Given the description of an element on the screen output the (x, y) to click on. 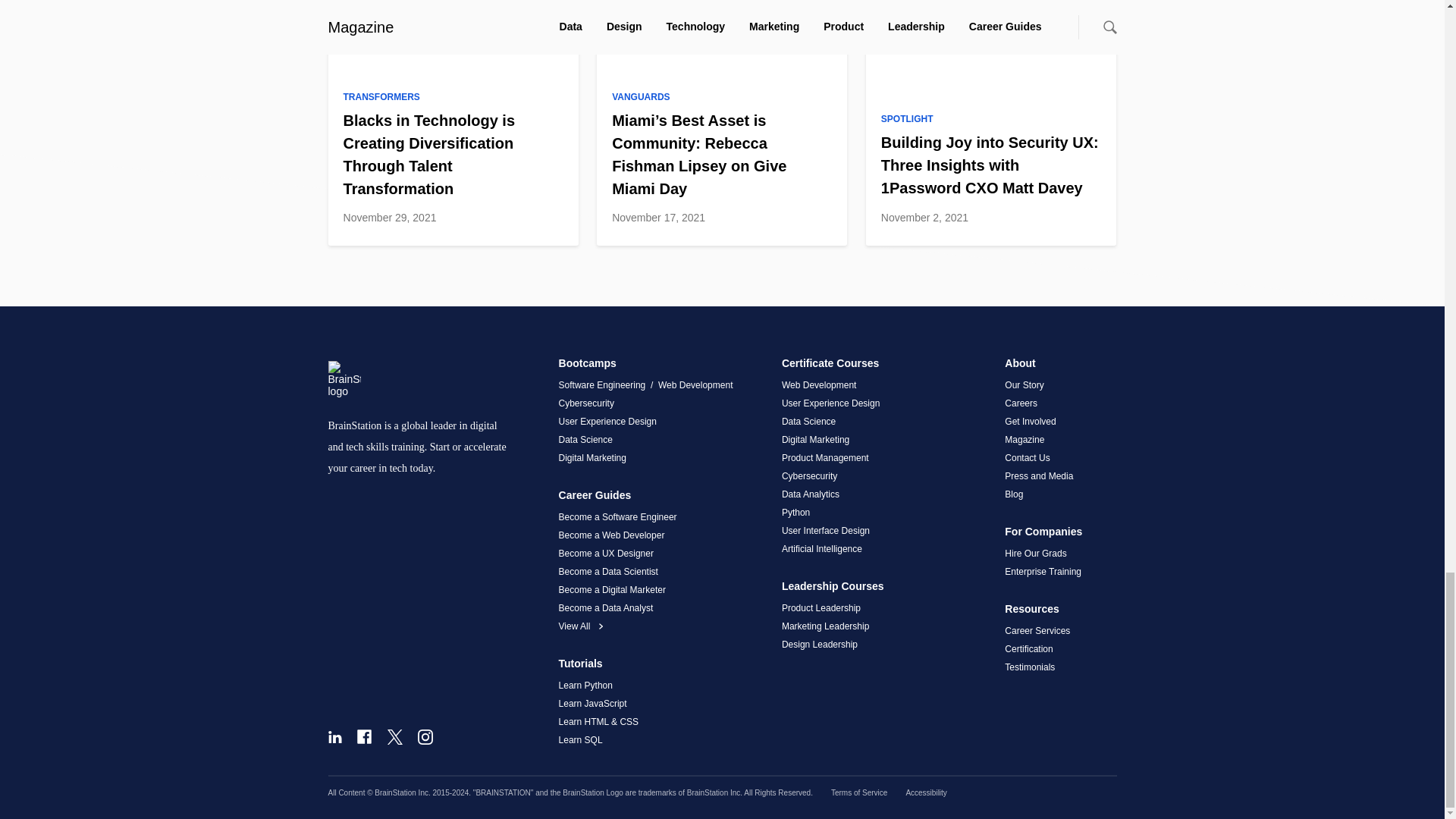
BrainStation LinkedIn (333, 736)
BrainStation Facebook (363, 736)
BrainStation Instagram (424, 736)
BrainStation X (394, 736)
